Given the description of an element on the screen output the (x, y) to click on. 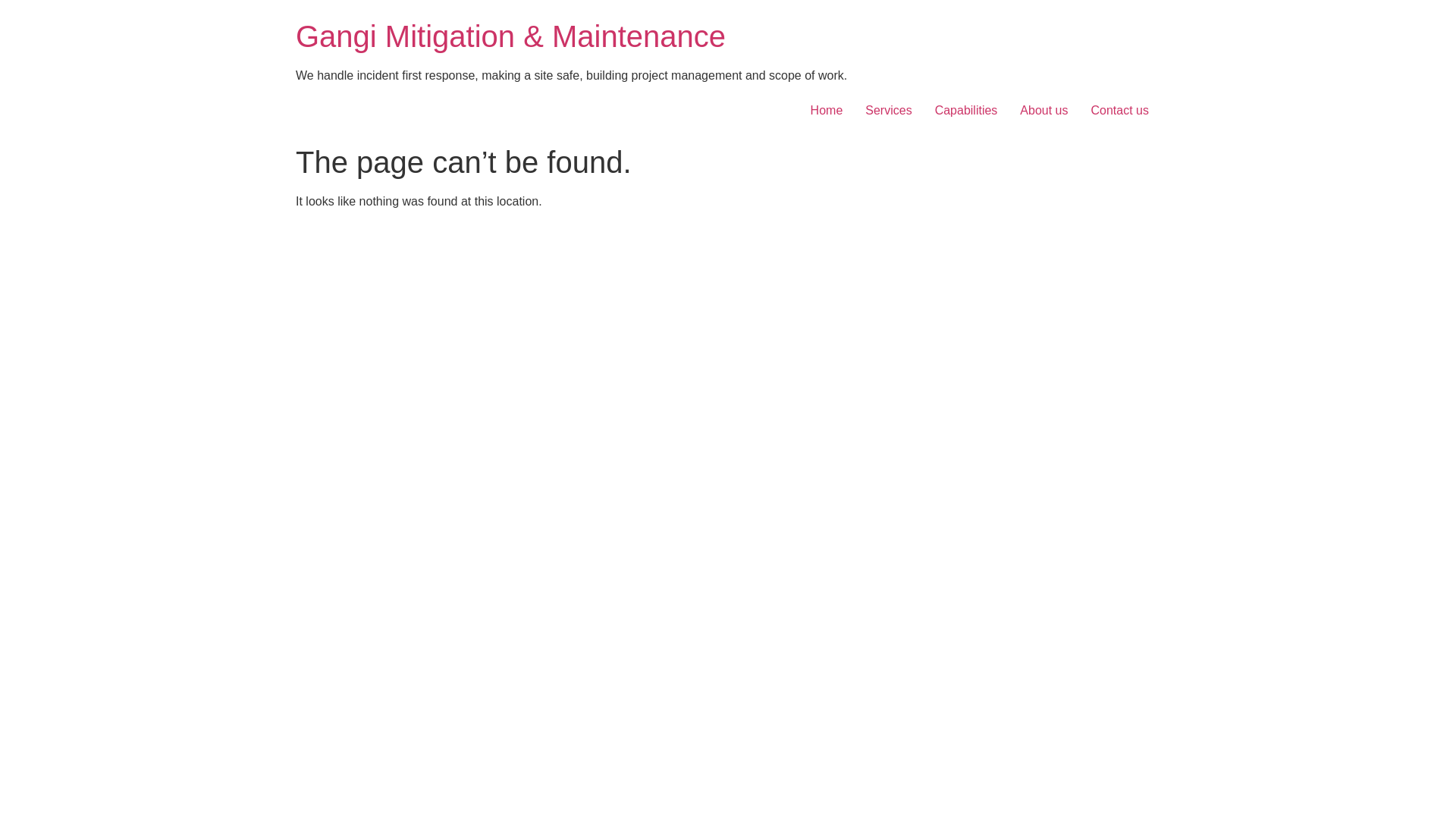
Home Element type: text (826, 110)
Gangi Mitigation & Maintenance Element type: text (510, 36)
Capabilities Element type: text (966, 110)
About us Element type: text (1043, 110)
Contact us Element type: text (1119, 110)
Services Element type: text (887, 110)
